Given the description of an element on the screen output the (x, y) to click on. 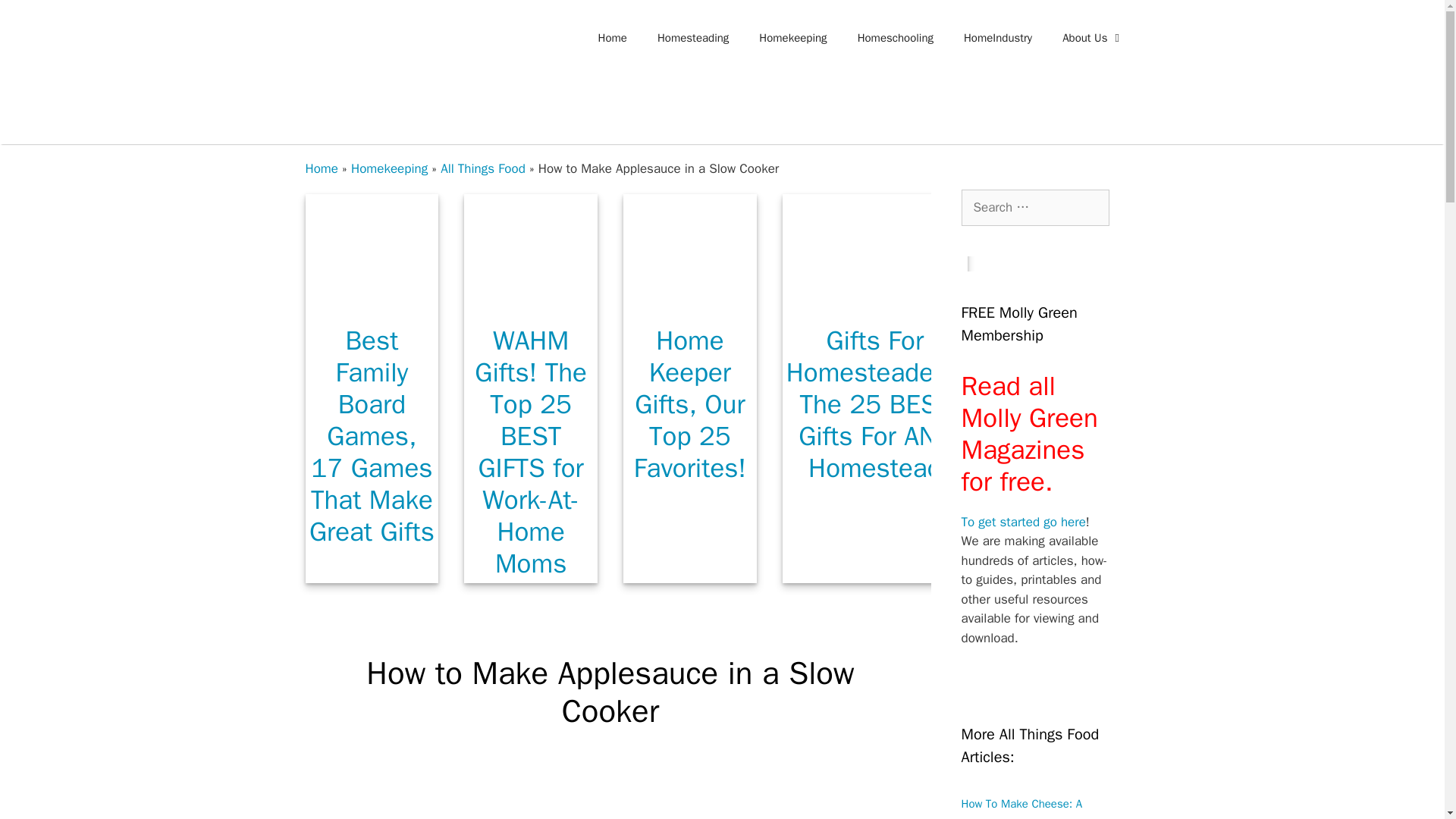
Home (612, 37)
Search for: (1034, 207)
WAHM Gifts! The Top 25 BEST GIFTS for Work-At-Home Moms (530, 301)
How To Make Cheese: A Guide To Making Gouda Cheese (1021, 807)
To get started go here (1023, 521)
Gifts For Homesteaders, The 25 BEST Gifts For ANY Homestead (874, 403)
Search (35, 18)
Home Keeper Gifts, Our Top 25 Favorites! (689, 301)
Best Family Board Games, 17 Games That Make Great Gifts (371, 301)
Homesteading (693, 37)
